Given the description of an element on the screen output the (x, y) to click on. 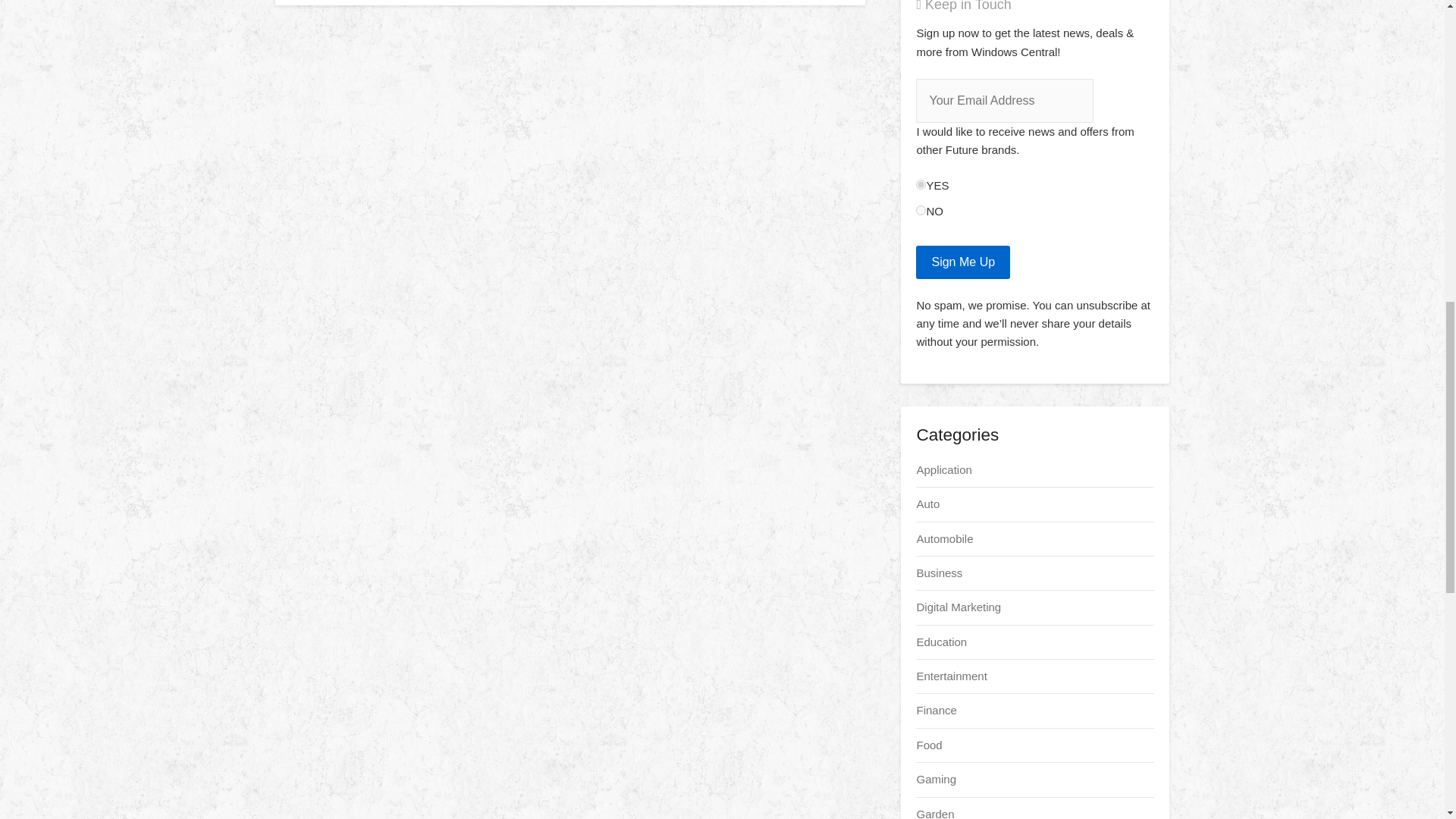
Food (928, 744)
Auto (927, 503)
Education (940, 641)
Gaming (935, 779)
Application (943, 469)
Business (938, 572)
0 (920, 210)
1 (920, 184)
Entertainment (951, 675)
Garden (934, 813)
Sign Me Up (962, 262)
Digital Marketing (958, 606)
Finance (935, 709)
Automobile (943, 538)
